Given the description of an element on the screen output the (x, y) to click on. 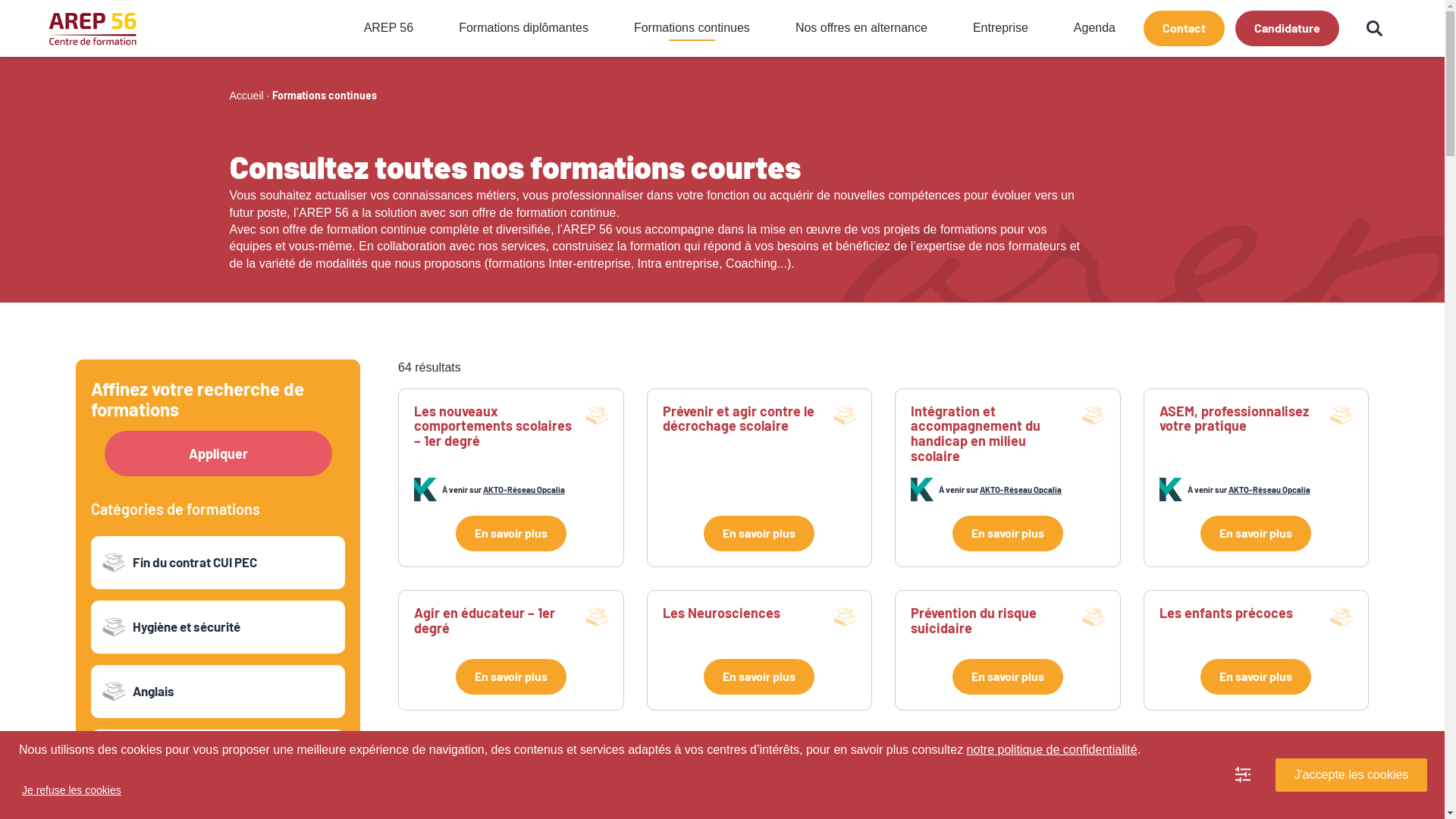
Nos offres en alternance Element type: text (861, 27)
Je refuse les cookies Element type: text (71, 790)
AREP 56 Element type: text (389, 27)
Manage cookie settings Element type: hover (1242, 774)
J'accepte les cookies Element type: text (1351, 774)
Contact Element type: text (1183, 28)
Candidature Element type: text (1287, 28)
Appliquer Element type: text (218, 453)
Entreprise Element type: text (1000, 27)
Les Neurosciences
En savoir plus Element type: text (759, 649)
Formations continues Element type: text (691, 27)
Agenda Element type: text (1094, 27)
Accueil Element type: text (246, 95)
